Given the description of an element on the screen output the (x, y) to click on. 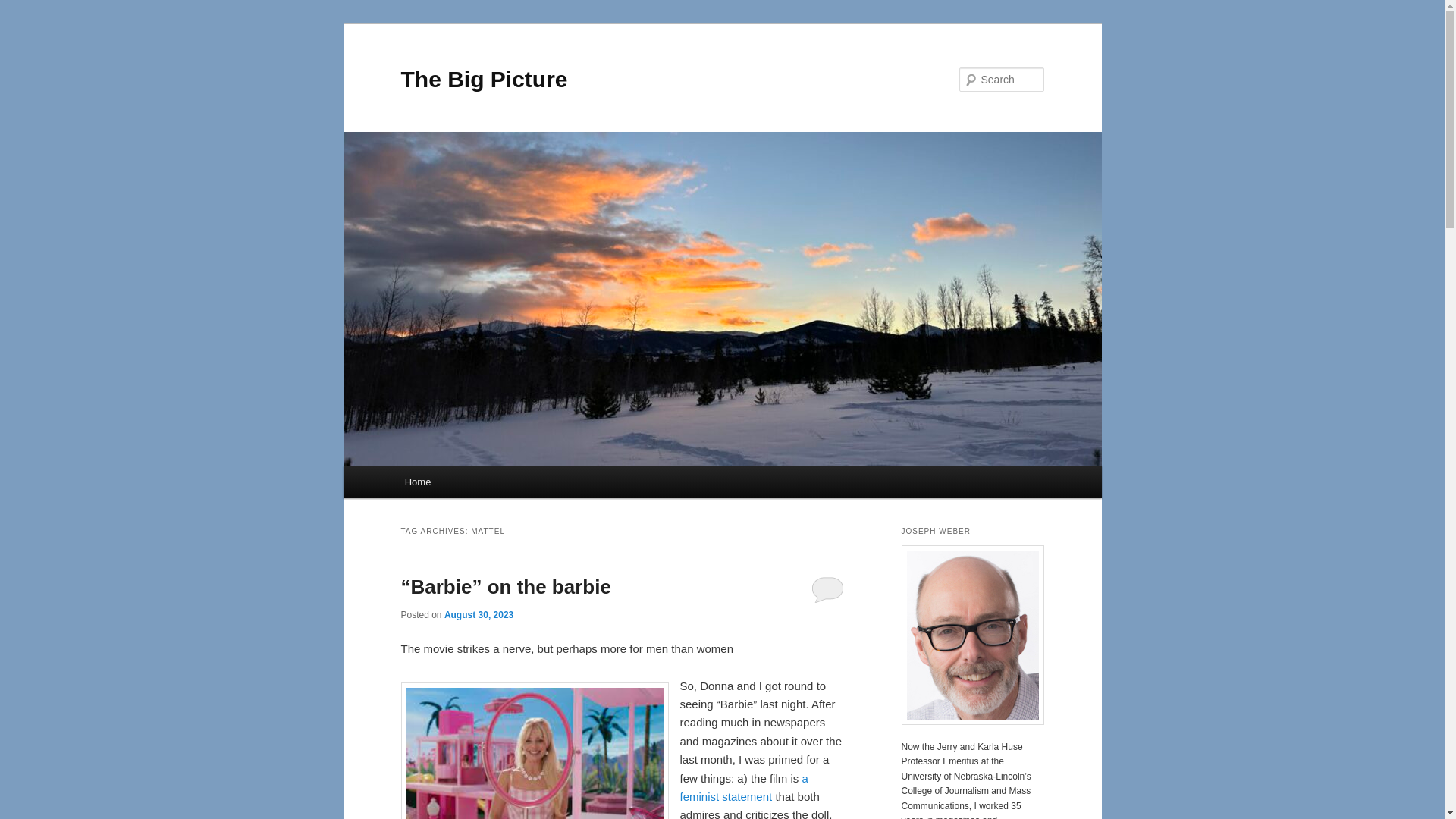
Search (24, 8)
The Big Picture (483, 78)
Home (417, 481)
August 30, 2023 (478, 614)
10:13 pm (478, 614)
a feminist statement (743, 787)
